Given the description of an element on the screen output the (x, y) to click on. 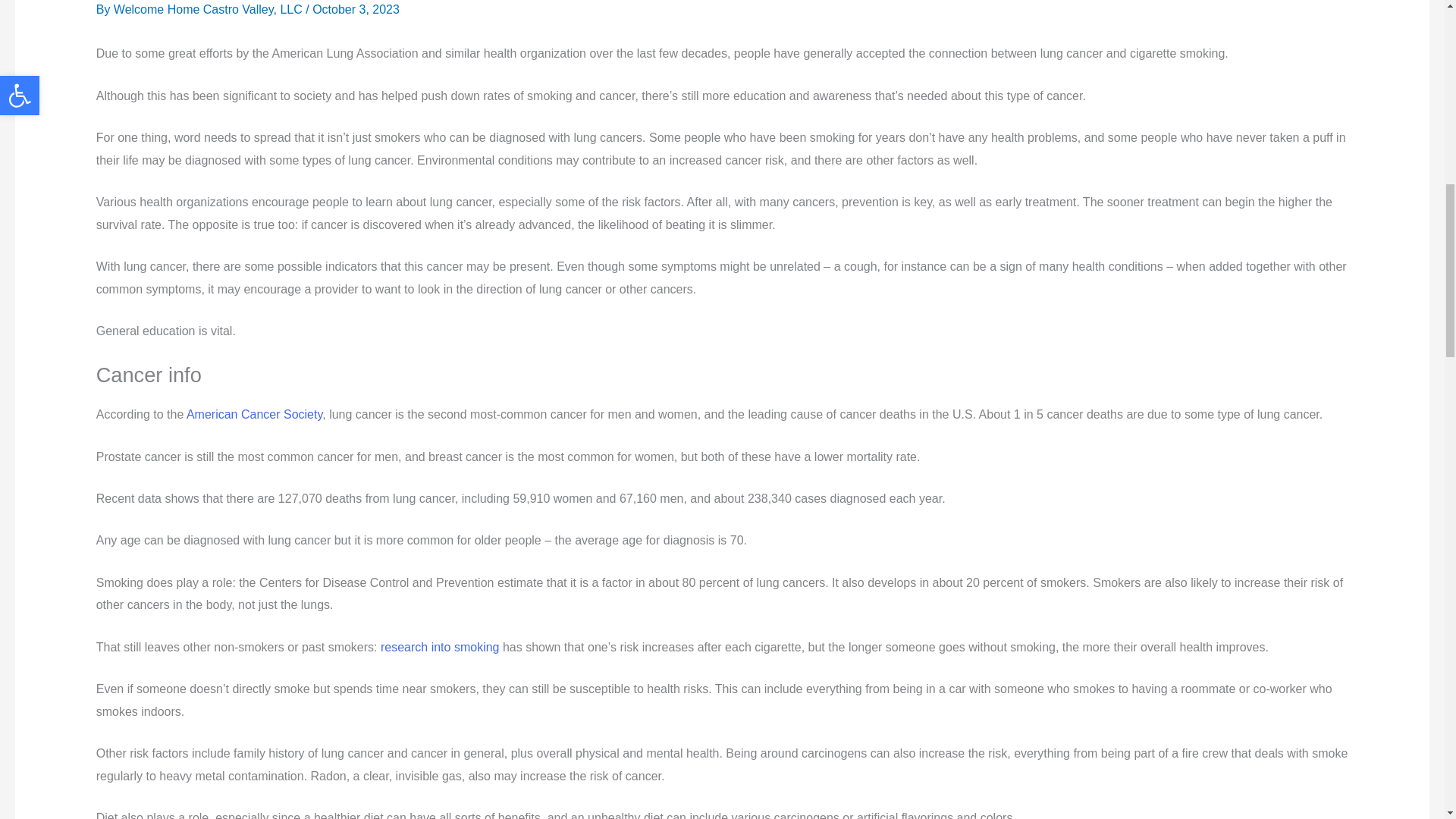
research into smoking (439, 646)
American Cancer Society (253, 413)
